Given the description of an element on the screen output the (x, y) to click on. 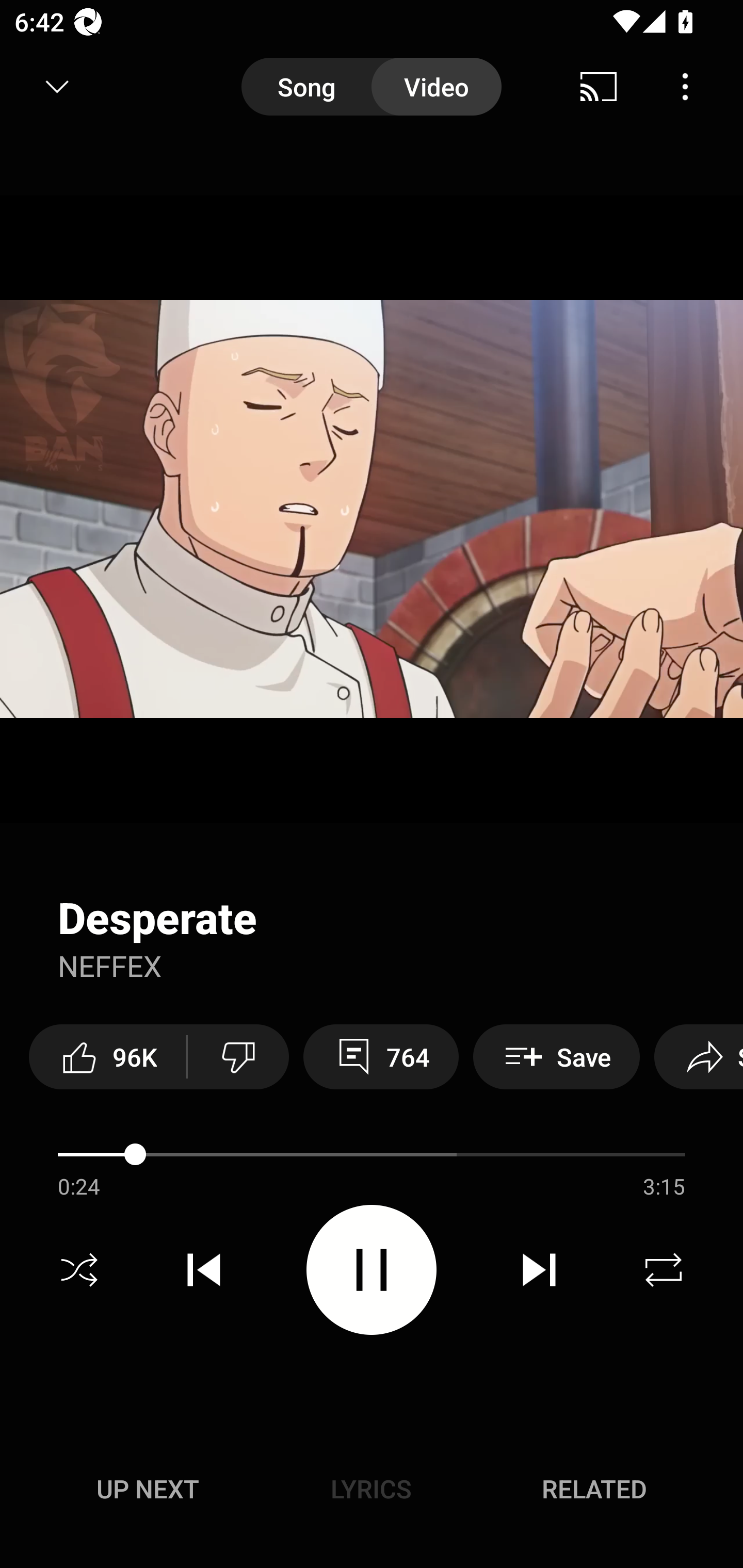
Minimize (57, 86)
Cast. Disconnected (598, 86)
Menu (684, 86)
96K like this video along with 96,234 other people (106, 1056)
Dislike (238, 1056)
764 View 764 comments (380, 1056)
Save Save to playlist (556, 1056)
Share (698, 1056)
Pause video (371, 1269)
Shuffle off (79, 1269)
Previous track (203, 1269)
Next track (538, 1269)
Repeat off (663, 1269)
Up next UP NEXT Lyrics LYRICS Related RELATED (371, 1491)
Lyrics LYRICS (370, 1488)
Related RELATED (594, 1488)
